Given the description of an element on the screen output the (x, y) to click on. 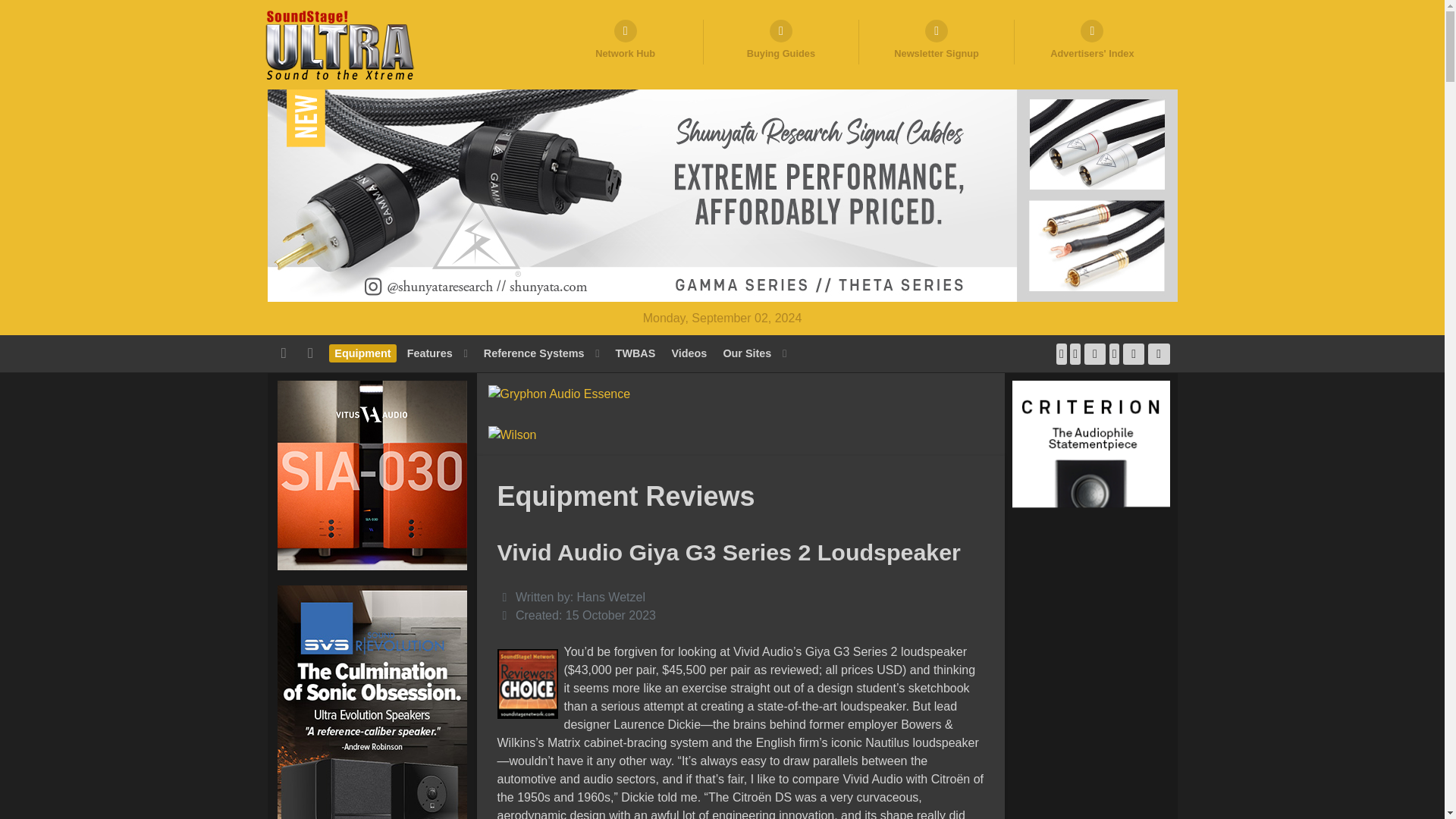
Advertisers' Index (1091, 41)
Videos (689, 352)
Advertisers' Index (1091, 41)
Network Hub (625, 41)
Newsletter Signup (936, 41)
Home (286, 352)
Newsletter Signup (936, 41)
TWBAS (635, 352)
Buying Guides (781, 41)
Equipment (362, 352)
